Given the description of an element on the screen output the (x, y) to click on. 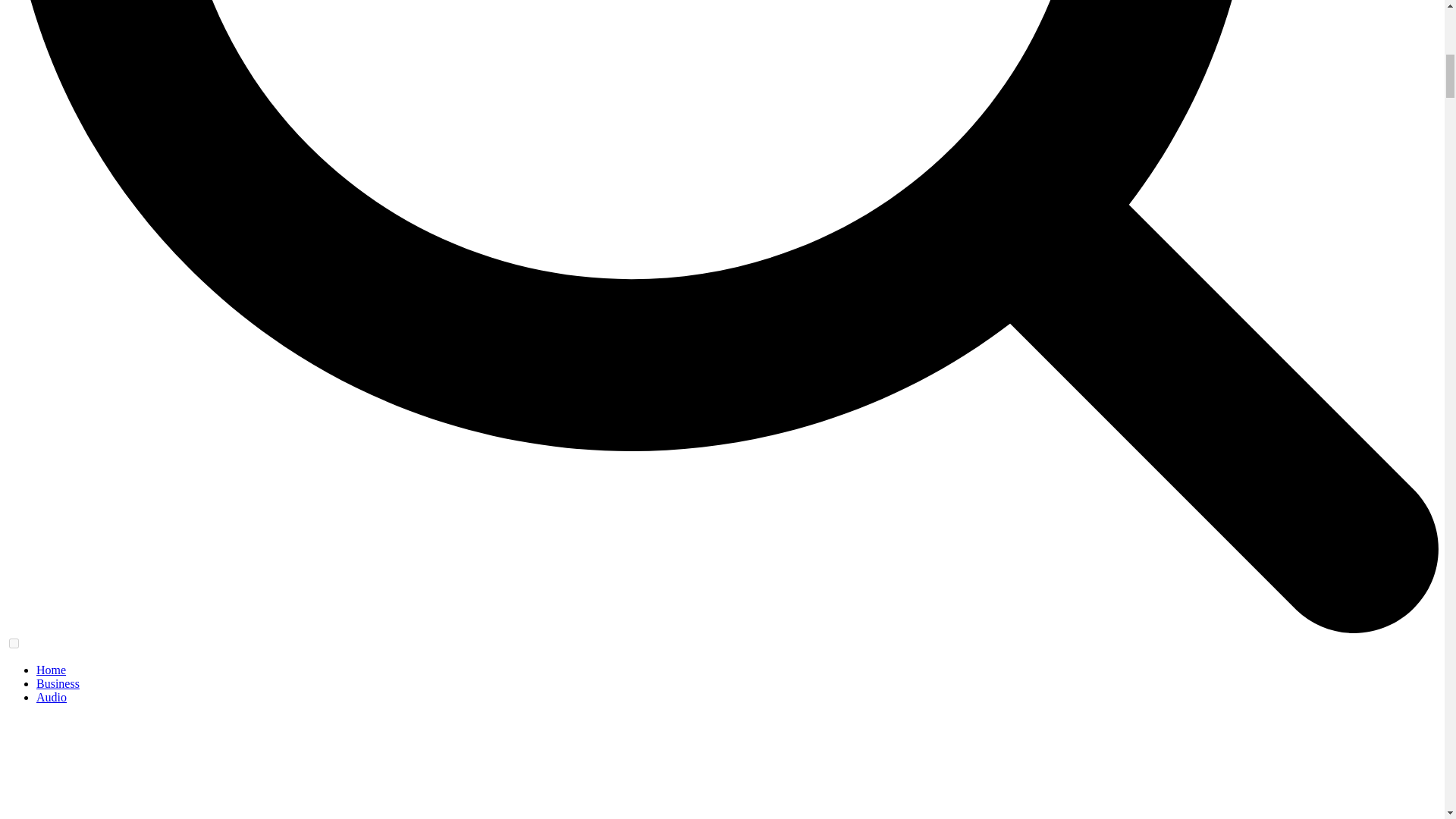
Audio (51, 697)
Home (50, 669)
on (13, 643)
Business (58, 683)
